Given the description of an element on the screen output the (x, y) to click on. 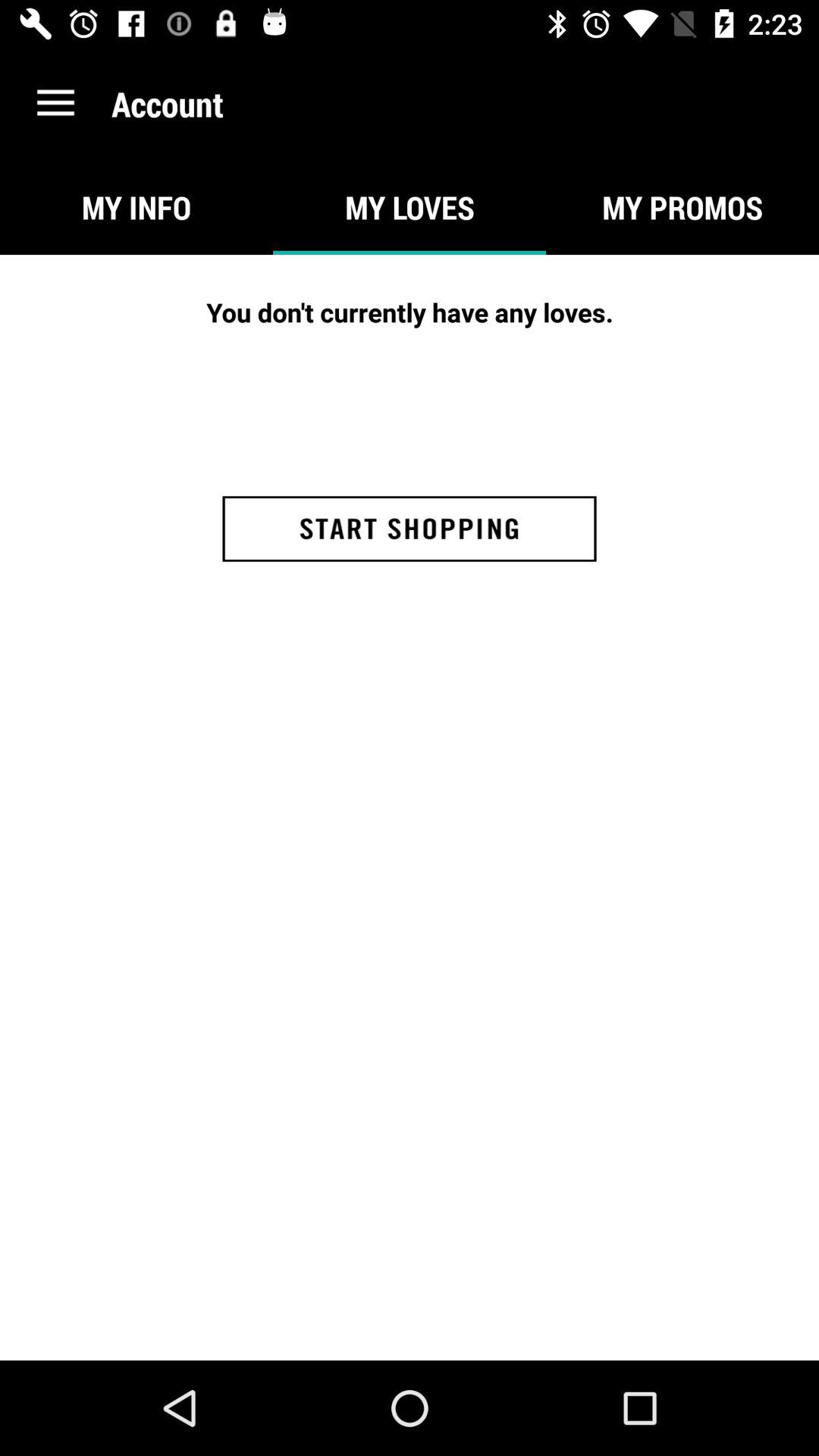
launch the icon above my info item (55, 103)
